Given the description of an element on the screen output the (x, y) to click on. 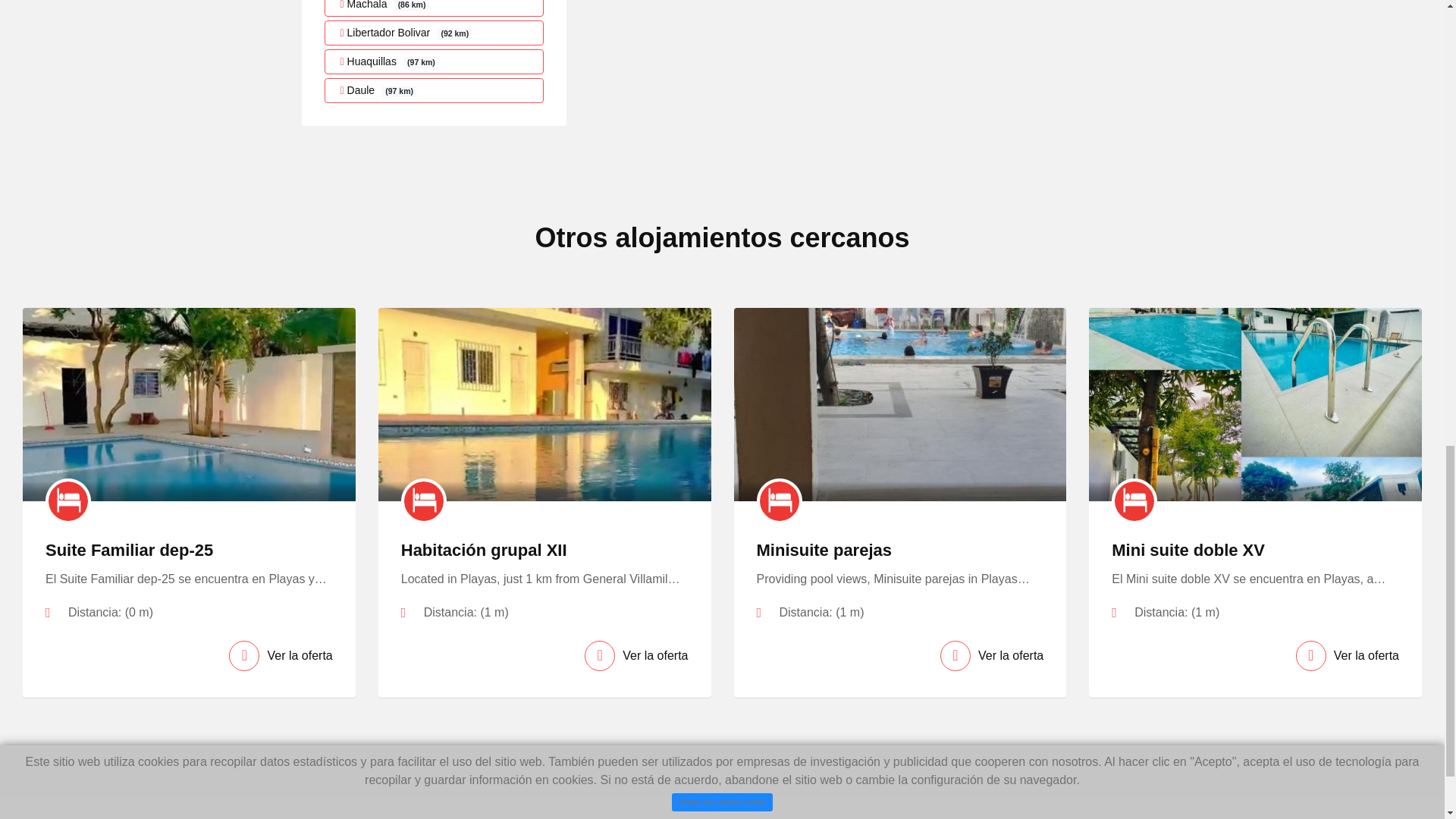
Alojamiento Machala (434, 8)
Alojamiento Libertador Bolivar (434, 32)
Alojamiento Daule (434, 90)
Ver la oferta (636, 655)
Alojamiento Huaquillas (434, 61)
Ver la oferta (279, 655)
Suite Familiar dep-25 (128, 549)
